Given the description of an element on the screen output the (x, y) to click on. 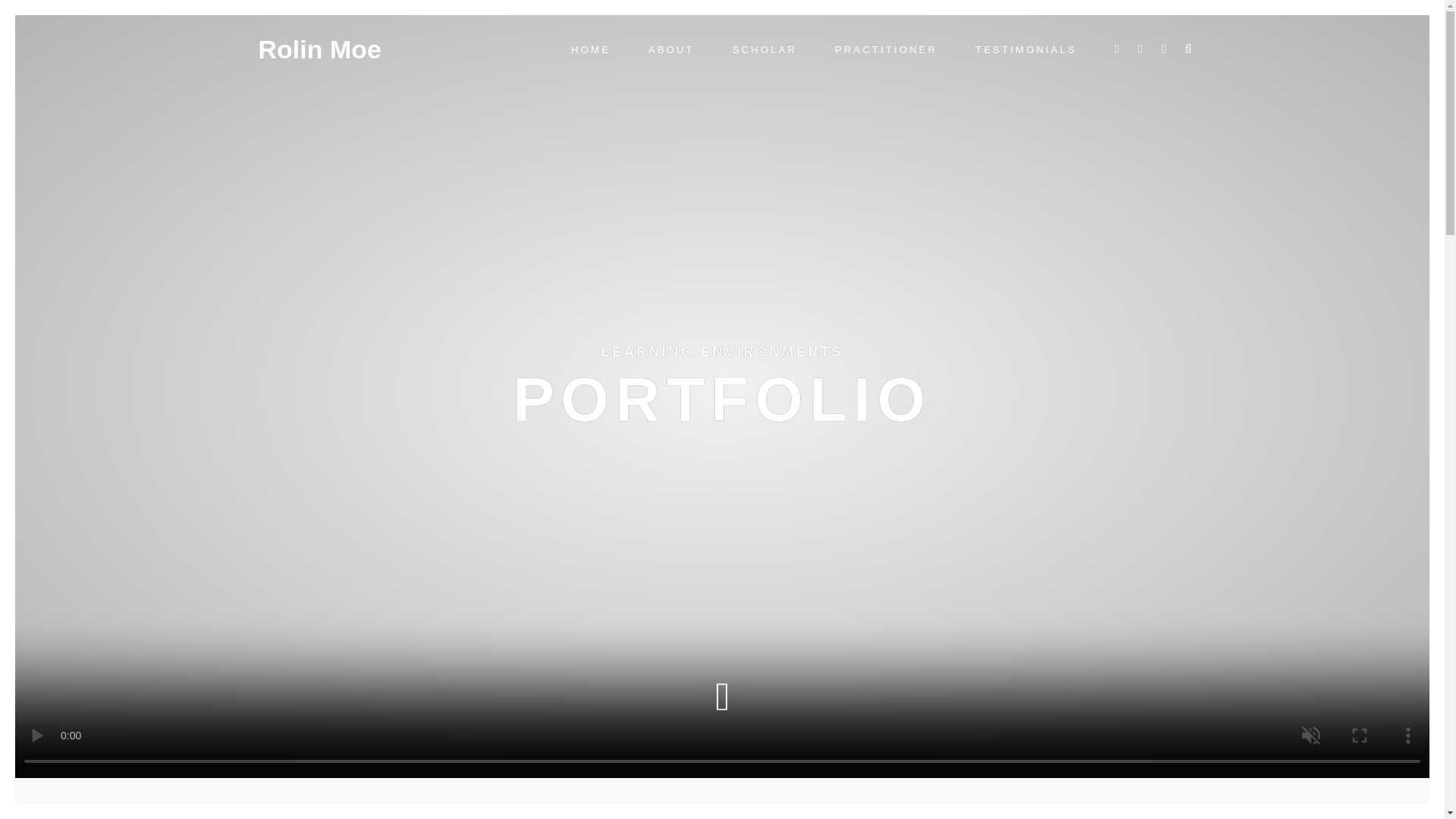
PRACTITIONER (885, 49)
Rolin Moe (318, 49)
TESTIMONIALS (1026, 49)
SCHOLAR (764, 49)
